Given the description of an element on the screen output the (x, y) to click on. 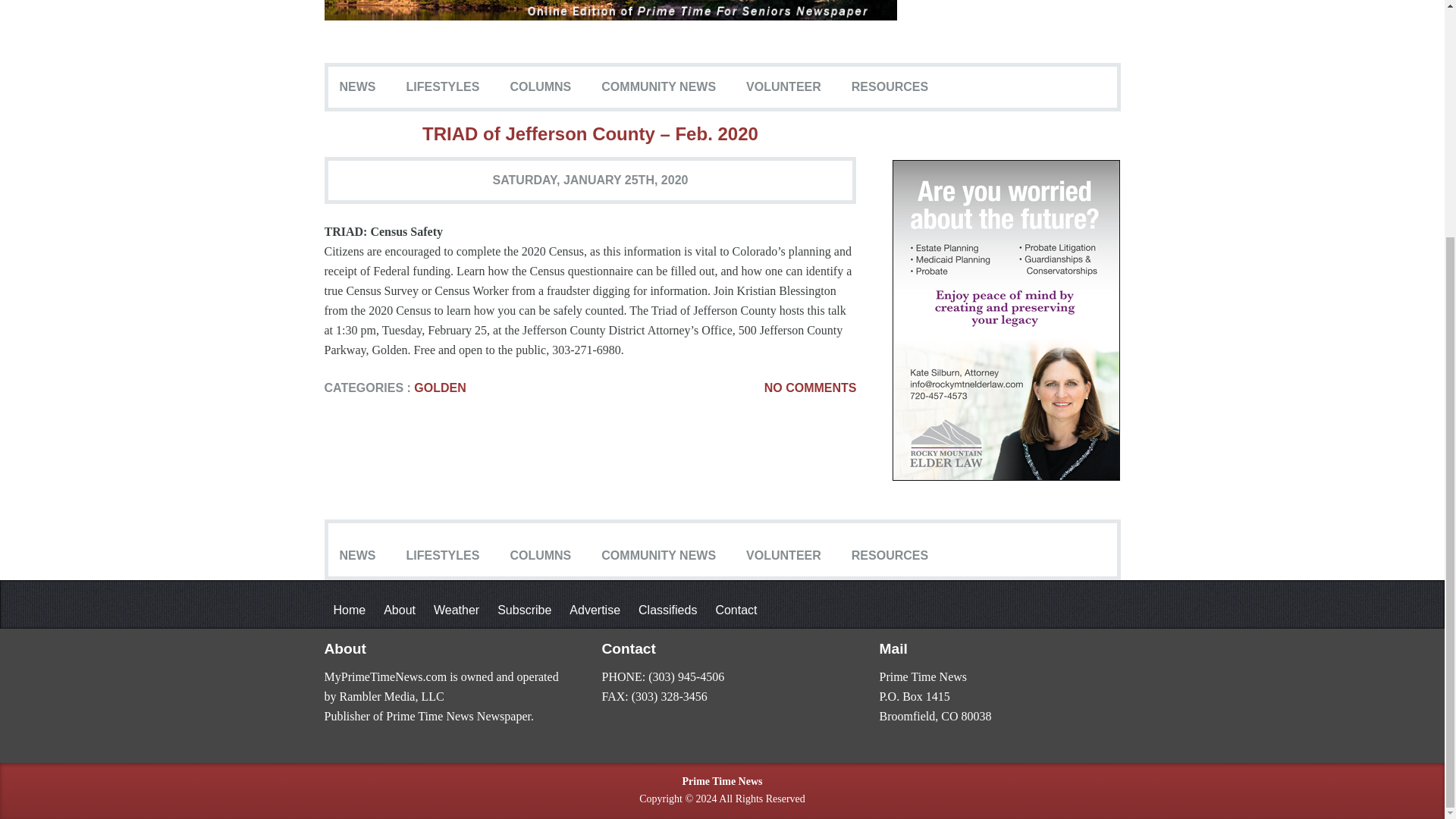
NEWS (357, 87)
COLUMNS (540, 87)
LIFESTYLES (443, 87)
